Given the description of an element on the screen output the (x, y) to click on. 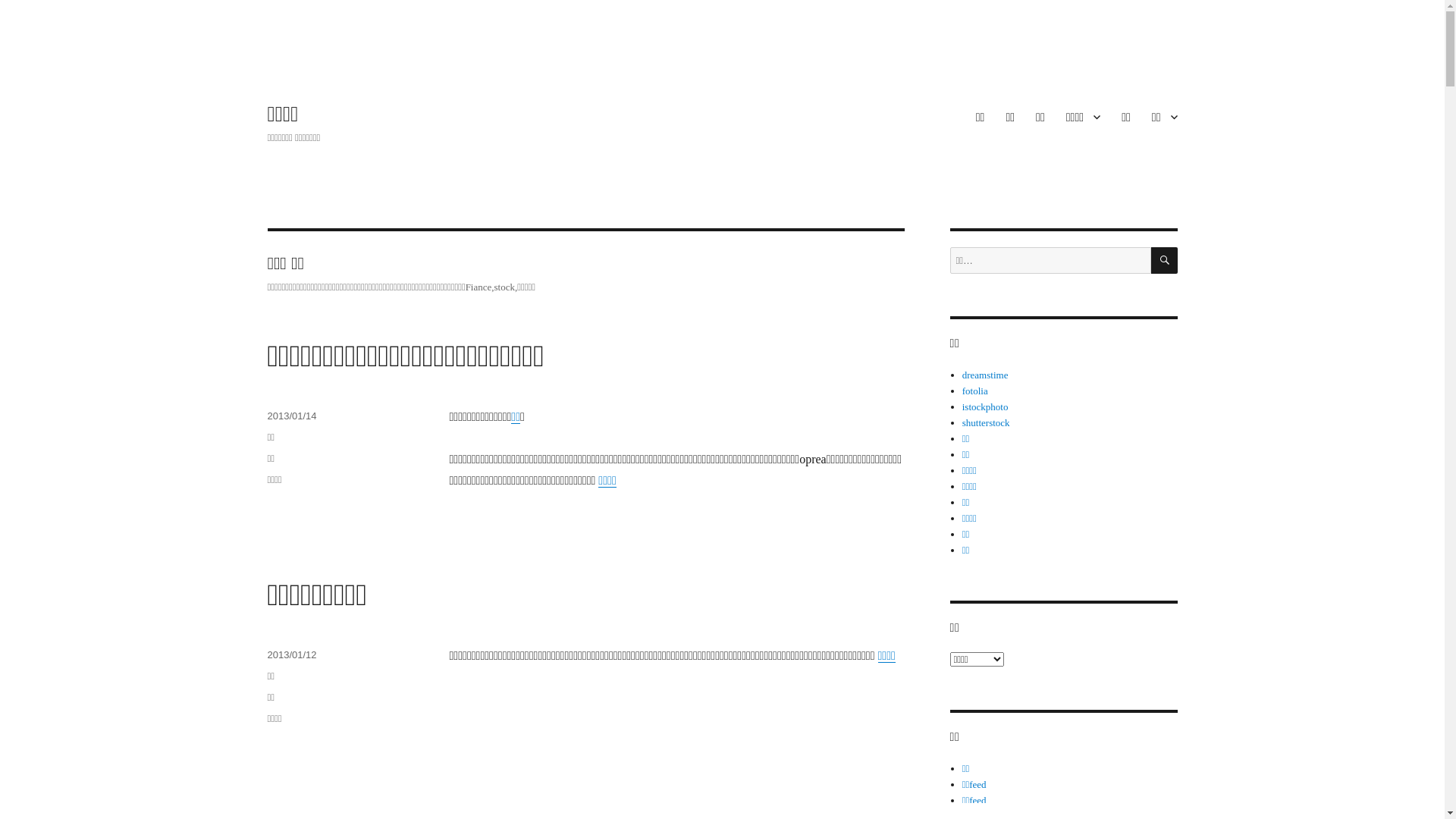
fotolia Element type: text (975, 390)
shutterstock Element type: text (986, 422)
dreamstime Element type: text (985, 374)
2013/01/12 Element type: text (291, 654)
2013/01/14 Element type: text (291, 415)
istockphoto Element type: text (985, 406)
